Given the description of an element on the screen output the (x, y) to click on. 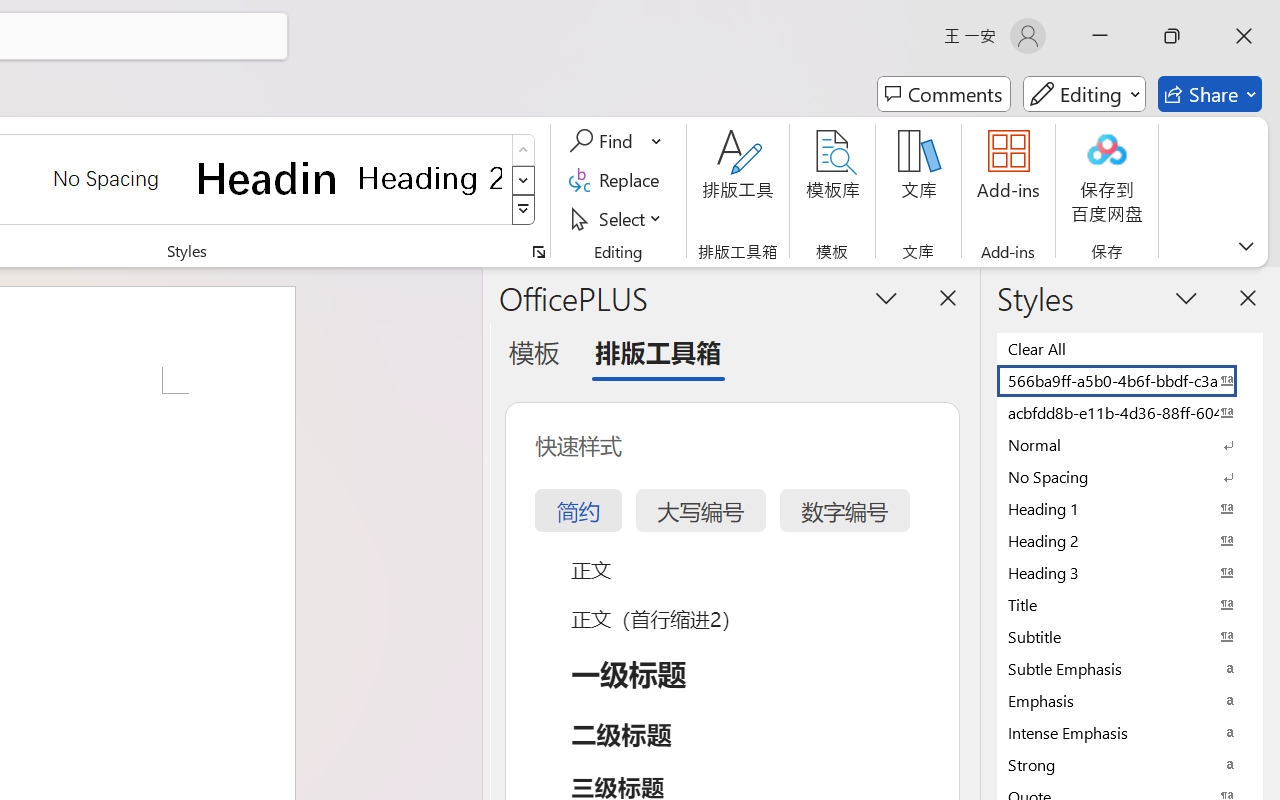
566ba9ff-a5b0-4b6f-bbdf-c3ab41993fc2 (1130, 380)
Replace... (617, 179)
Task Pane Options (886, 297)
Heading 2 (429, 178)
Ribbon Display Options (1246, 245)
Select (618, 218)
Minimize (1099, 36)
Row up (523, 150)
Styles... (538, 252)
Intense Emphasis (1130, 732)
Clear All (1130, 348)
Heading 1 (267, 178)
